Given the description of an element on the screen output the (x, y) to click on. 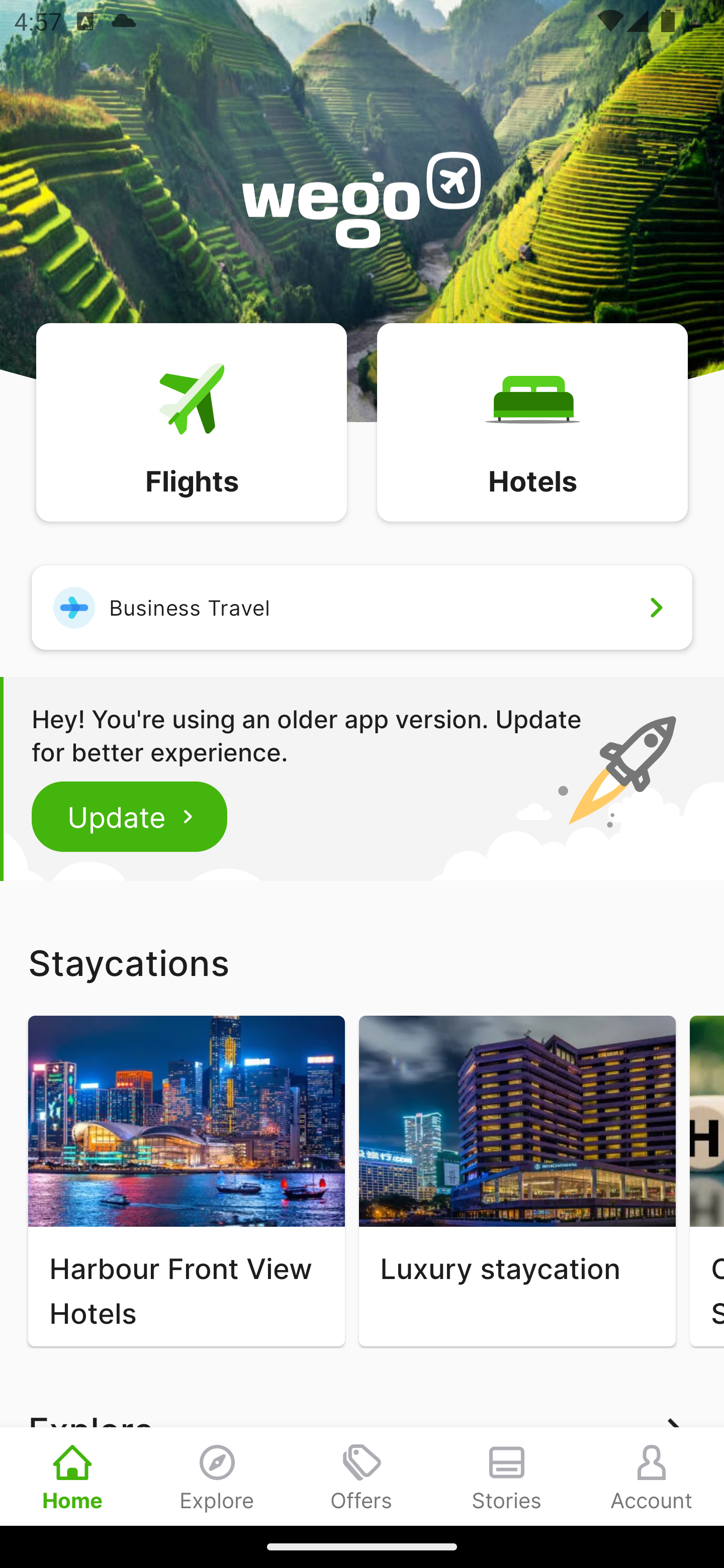
Flights (191, 420)
Hotels (532, 420)
Business Travel (361, 607)
Update (129, 815)
Staycations (362, 962)
Harbour Front View Hotels (186, 1181)
Luxury staycation (517, 1181)
Explore (216, 1475)
Offers (361, 1475)
Stories (506, 1475)
Account (651, 1475)
